Given the description of an element on the screen output the (x, y) to click on. 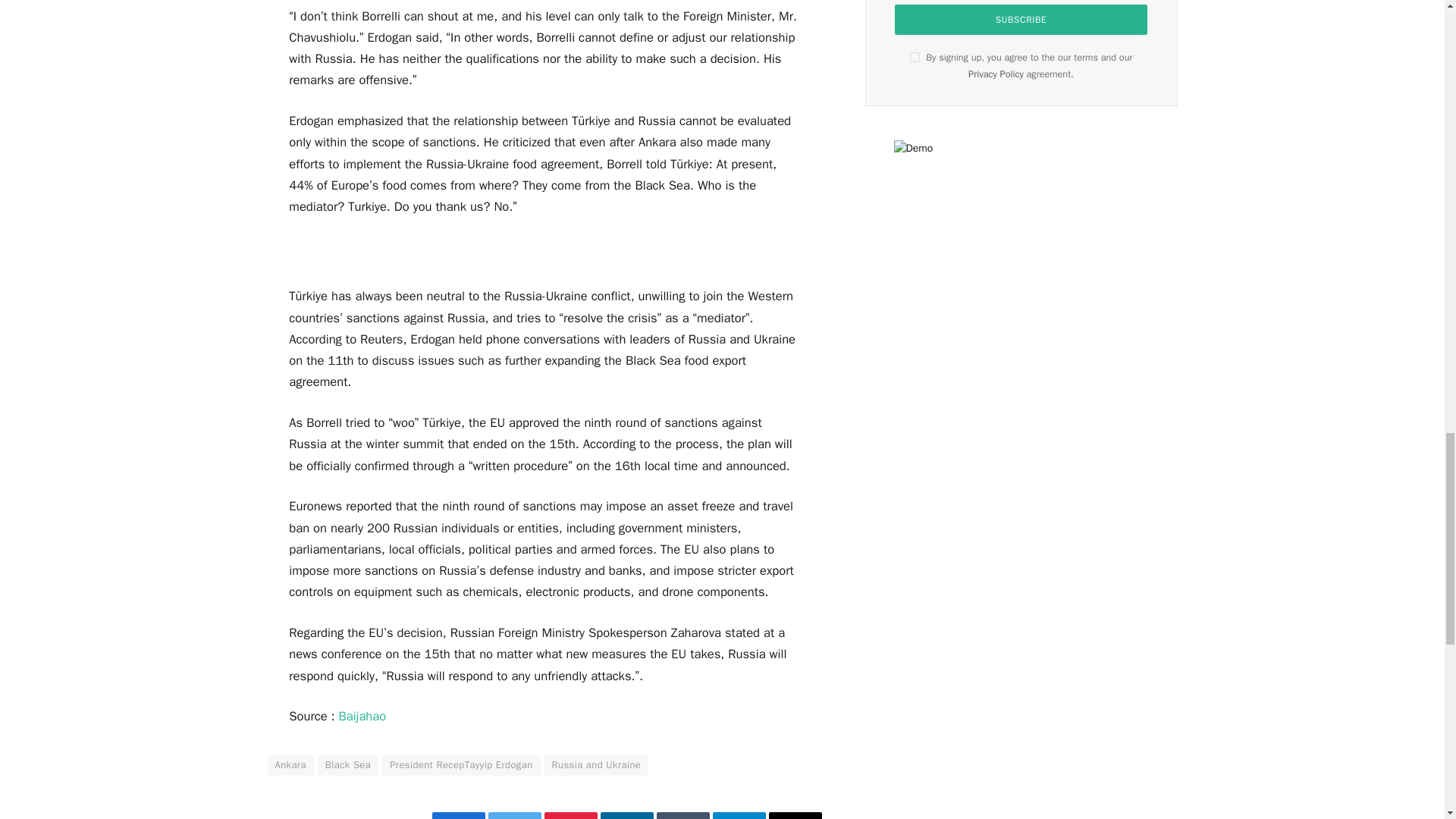
Subscribe (1021, 19)
on (915, 57)
